Given the description of an element on the screen output the (x, y) to click on. 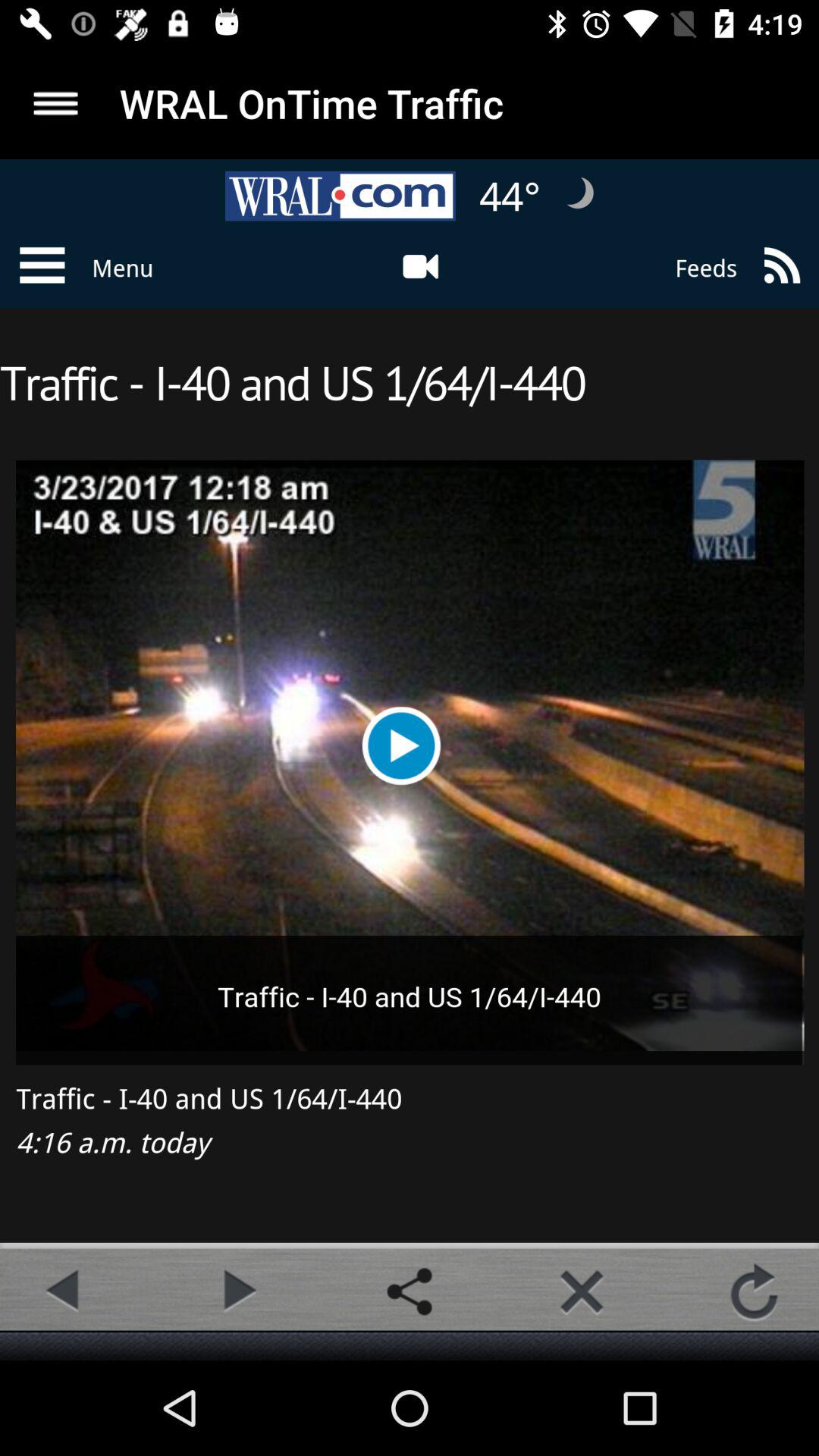
searcg (55, 103)
